Given the description of an element on the screen output the (x, y) to click on. 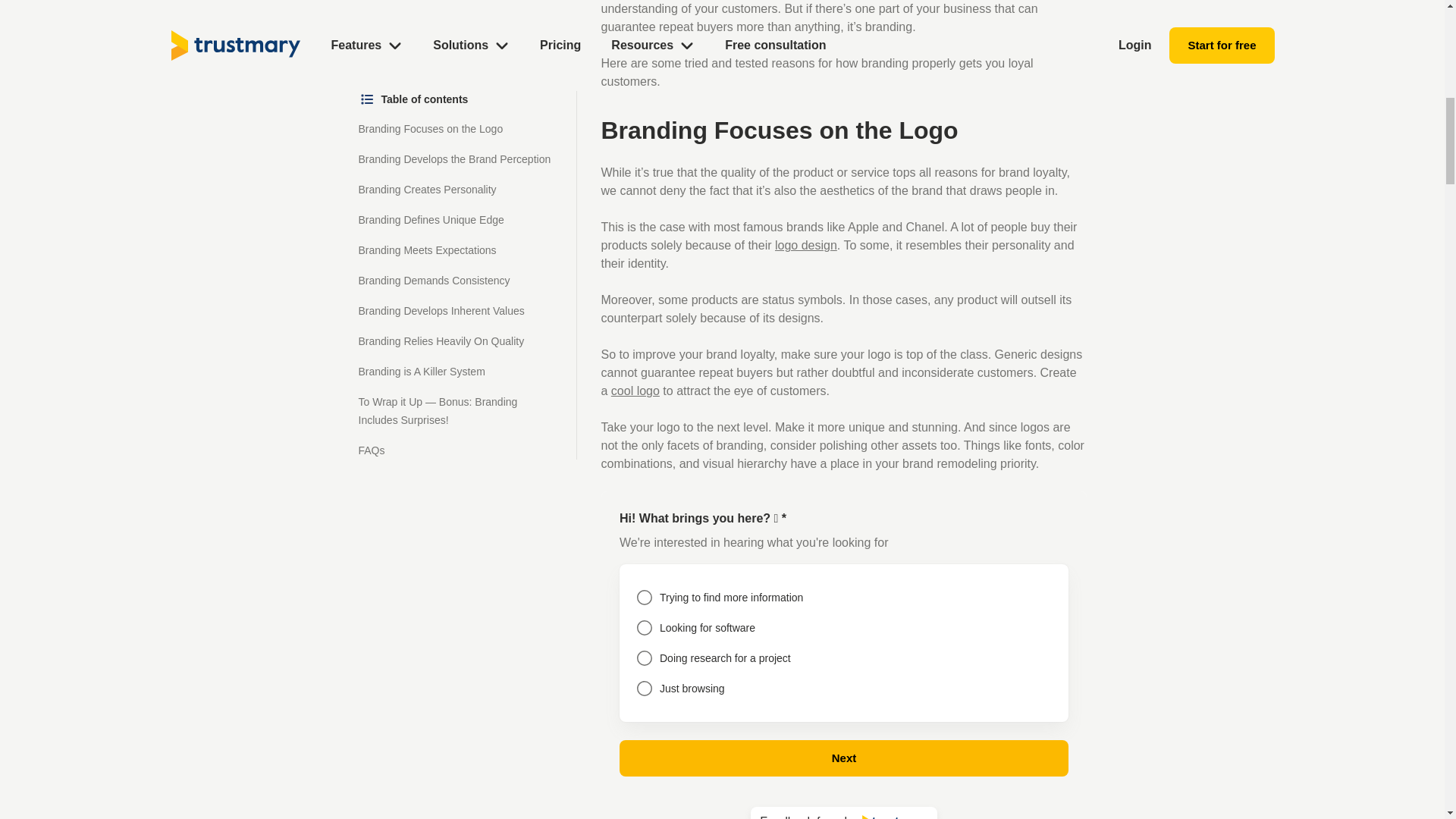
FAQs (371, 85)
Branding is A Killer System (421, 6)
